Given the description of an element on the screen output the (x, y) to click on. 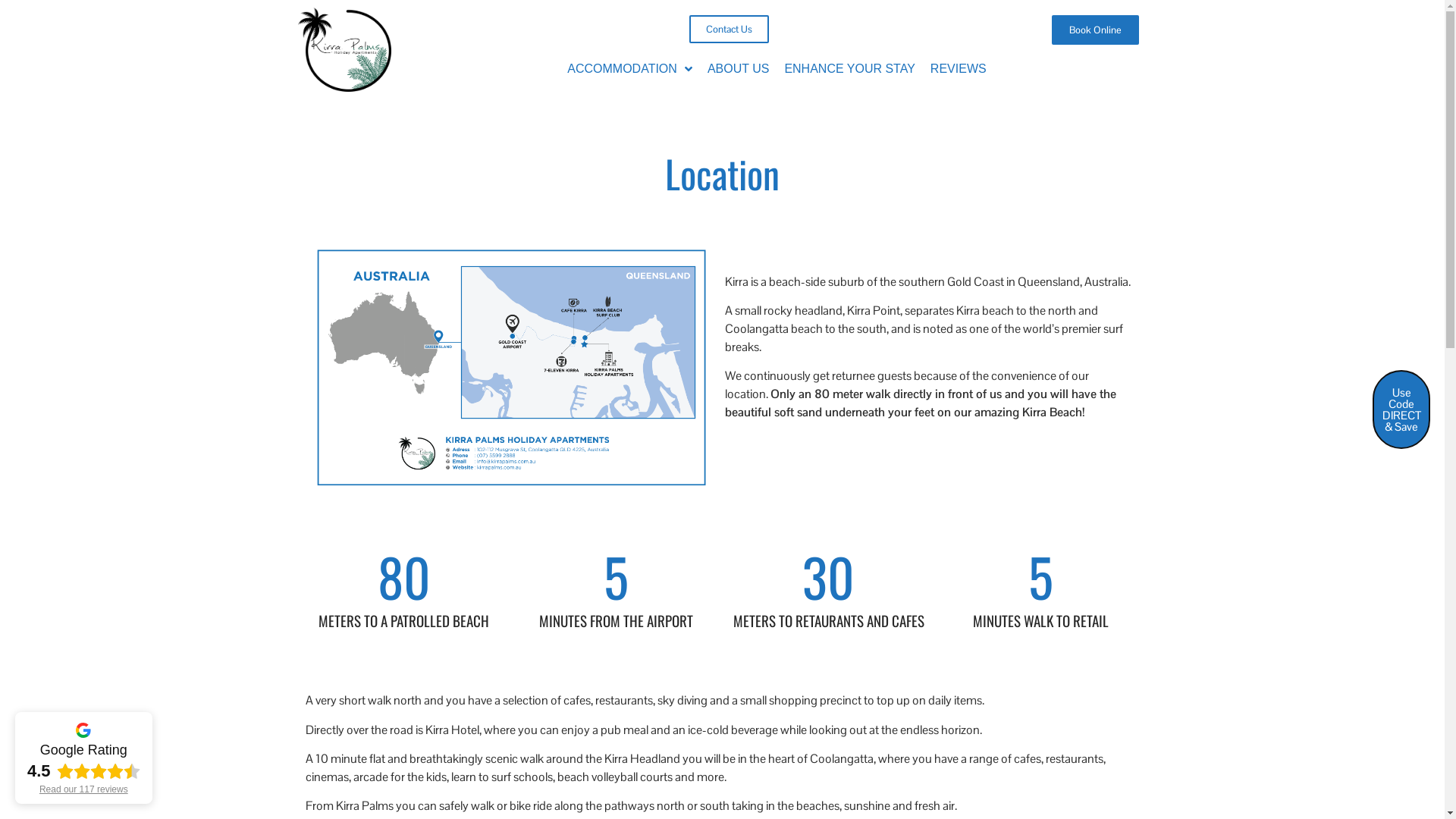
ABOUT US Element type: text (738, 68)
Book Online Element type: text (1095, 29)
Use Code DIRECT & Save Element type: text (1401, 409)
Contact Us Element type: text (728, 29)
REVIEWS Element type: text (958, 68)
ENHANCE YOUR STAY Element type: text (849, 68)
ACCOMMODATION Element type: text (629, 68)
